Given the description of an element on the screen output the (x, y) to click on. 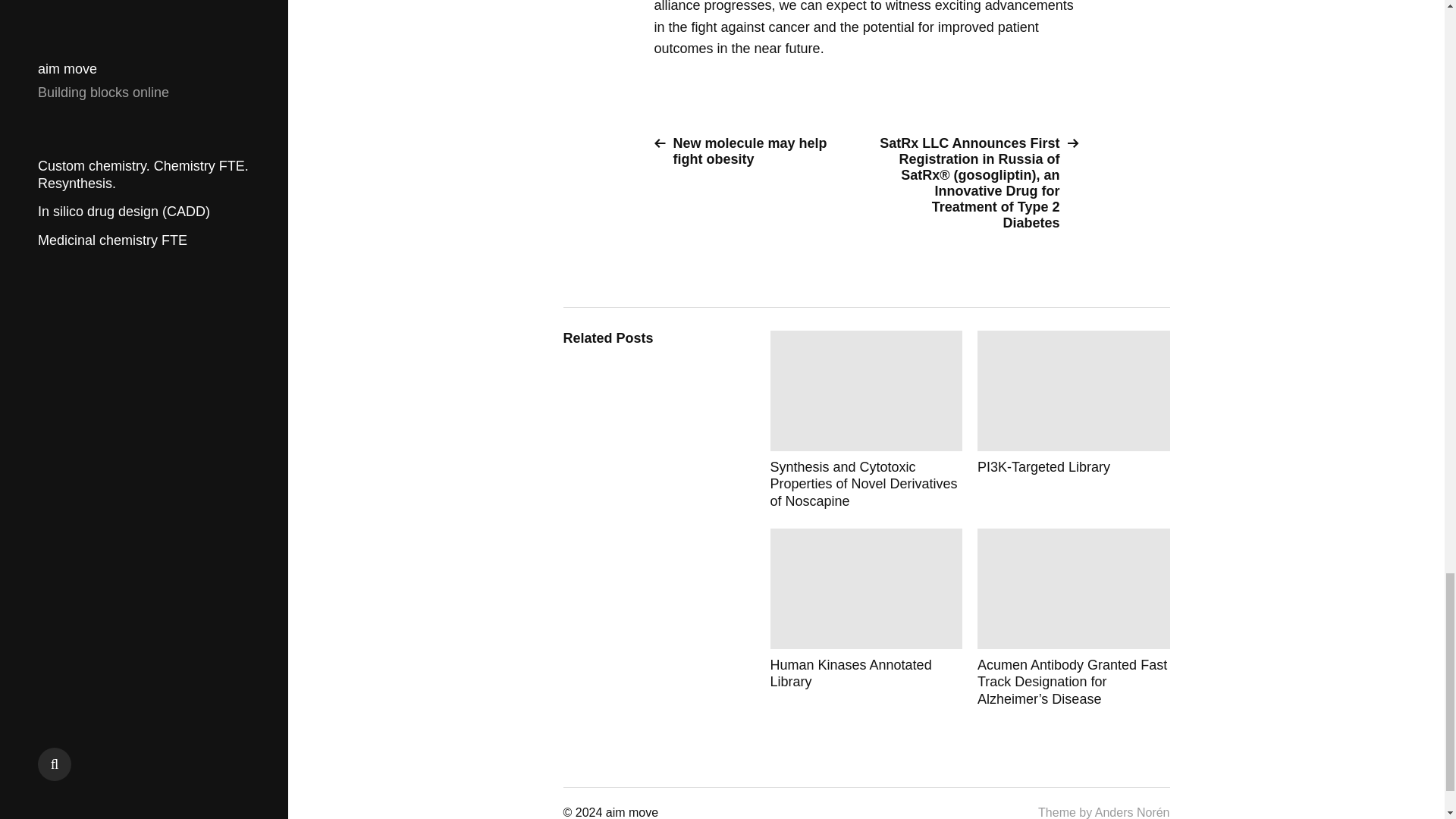
PI3K-Targeted Library (1073, 419)
Human Kinases Annotated Library (866, 617)
New molecule may help fight obesity (753, 151)
